Given the description of an element on the screen output the (x, y) to click on. 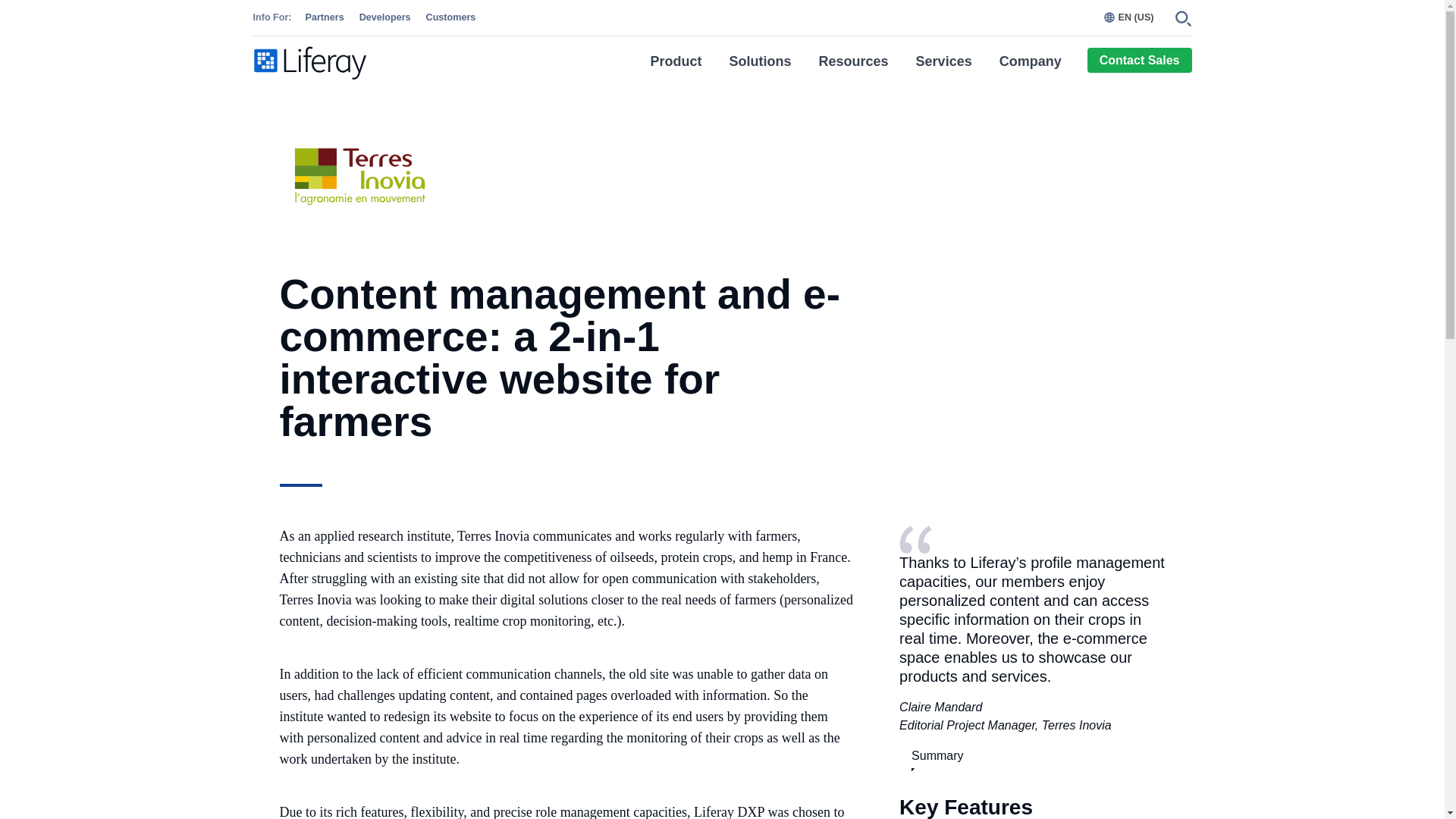
Developers (385, 17)
Customers (451, 17)
Partners (325, 17)
Skip to Content (5, 5)
